Given the description of an element on the screen output the (x, y) to click on. 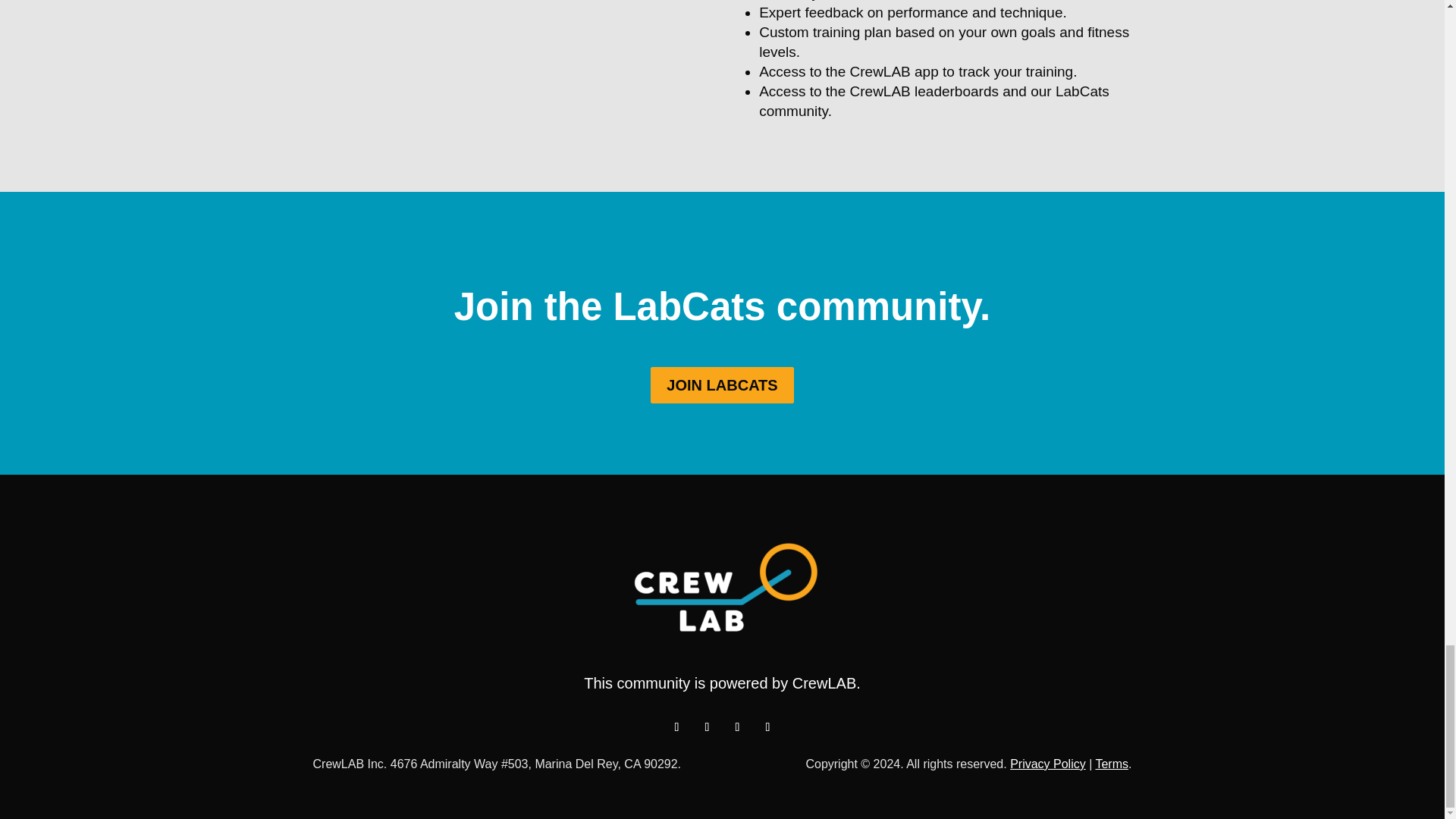
Follow on Instagram (706, 726)
Terms (1111, 763)
JOIN LABCATS (721, 384)
Follow on Facebook (737, 726)
Follow on LinkedIn (675, 726)
Follow on Youtube (766, 726)
Privacy Policy (1048, 763)
